Given the description of an element on the screen output the (x, y) to click on. 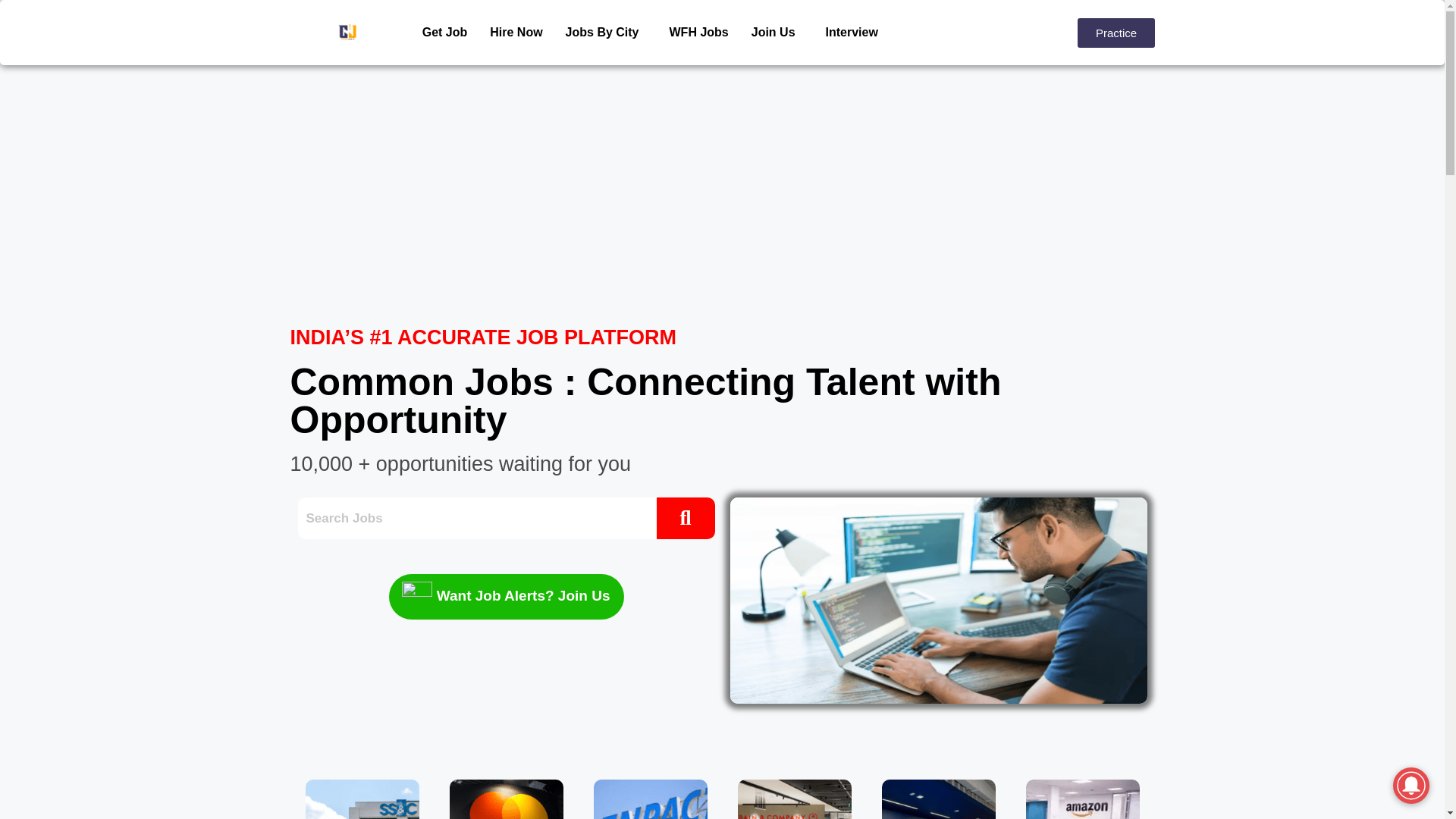
Interview (851, 32)
Want Job Alerts? Join Us (505, 596)
Jobs By City (606, 32)
Join Us (776, 32)
Hire Now (516, 32)
Get Job (444, 32)
Search (476, 517)
WFH Jobs (698, 32)
Practice (1115, 32)
